Given the description of an element on the screen output the (x, y) to click on. 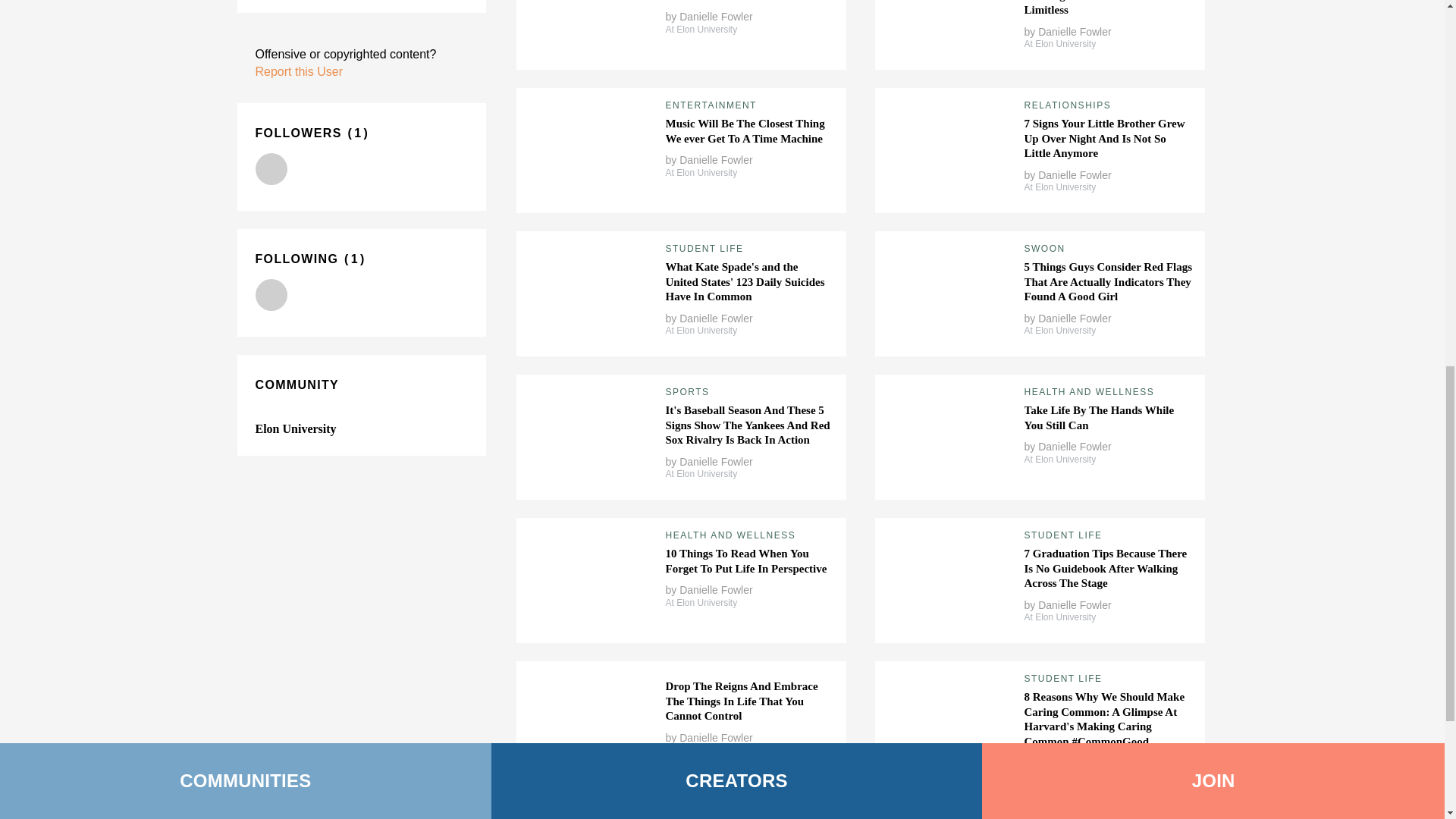
Report this User (298, 71)
Danielle Fowler (715, 16)
Lauren Pelzner (270, 169)
At Elon University (701, 29)
Elon University (295, 428)
1 (354, 258)
Elon University (270, 295)
1 (357, 132)
